Given the description of an element on the screen output the (x, y) to click on. 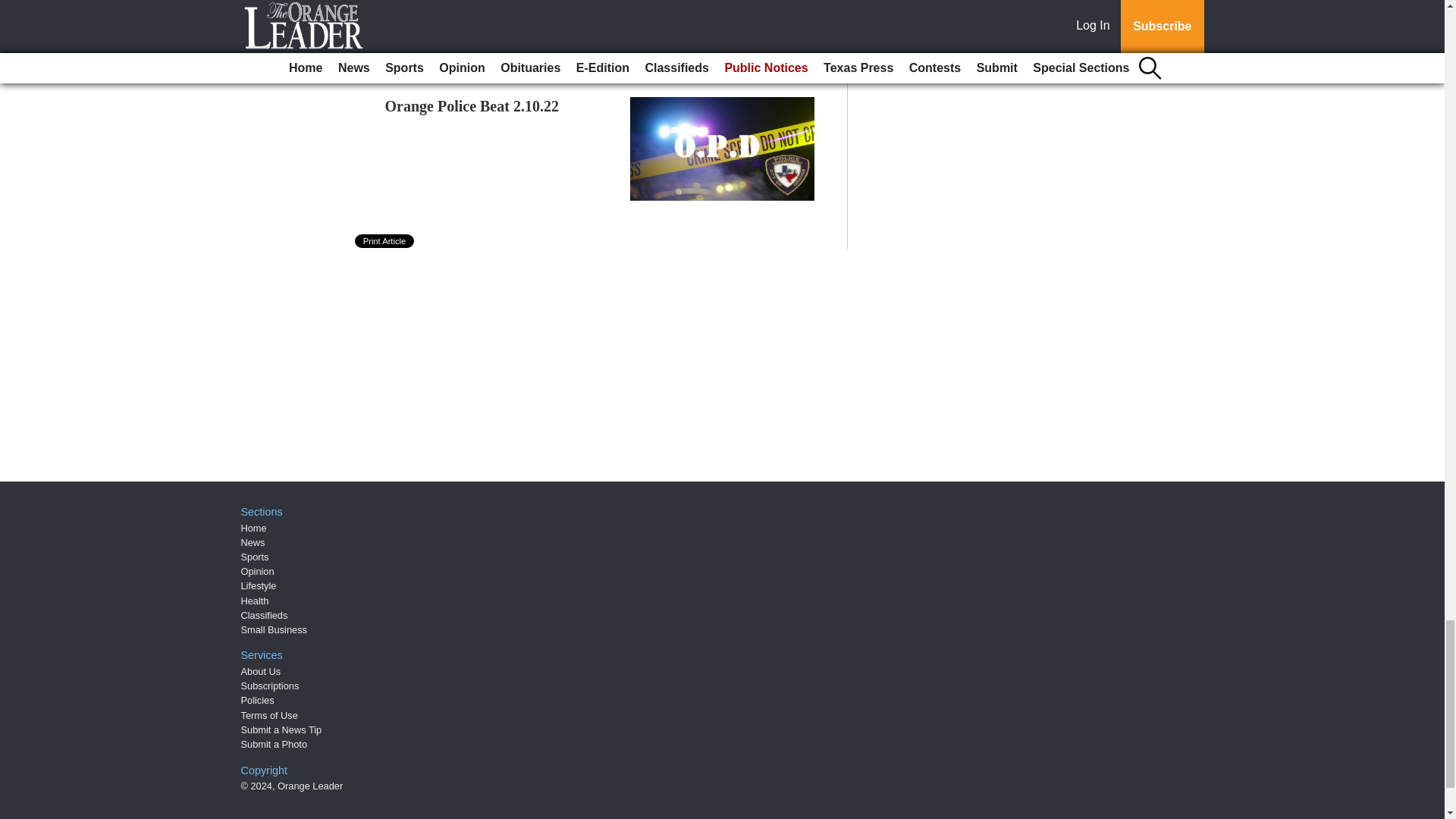
Orange Police Beat 2.10.22 (472, 105)
Orange Police Beat 2.10.22 (472, 105)
Print Article (384, 241)
Sports (255, 556)
News (252, 542)
Home (253, 527)
